Given the description of an element on the screen output the (x, y) to click on. 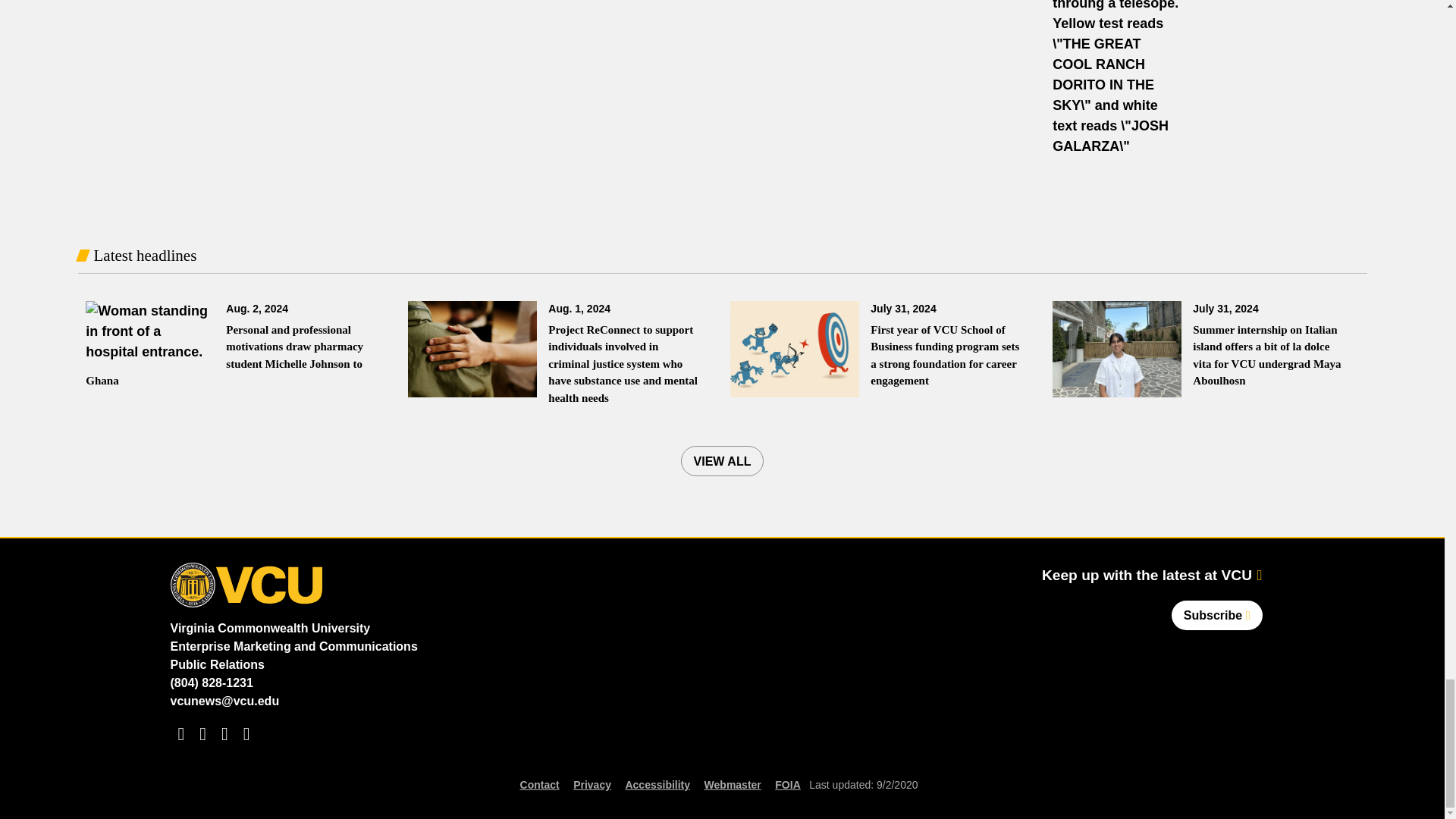
Accessibility at VCU (657, 784)
VCU privacy statement (591, 784)
Contact the VCU webmaster (732, 784)
Freedom of Information Act request (787, 784)
